Given the description of an element on the screen output the (x, y) to click on. 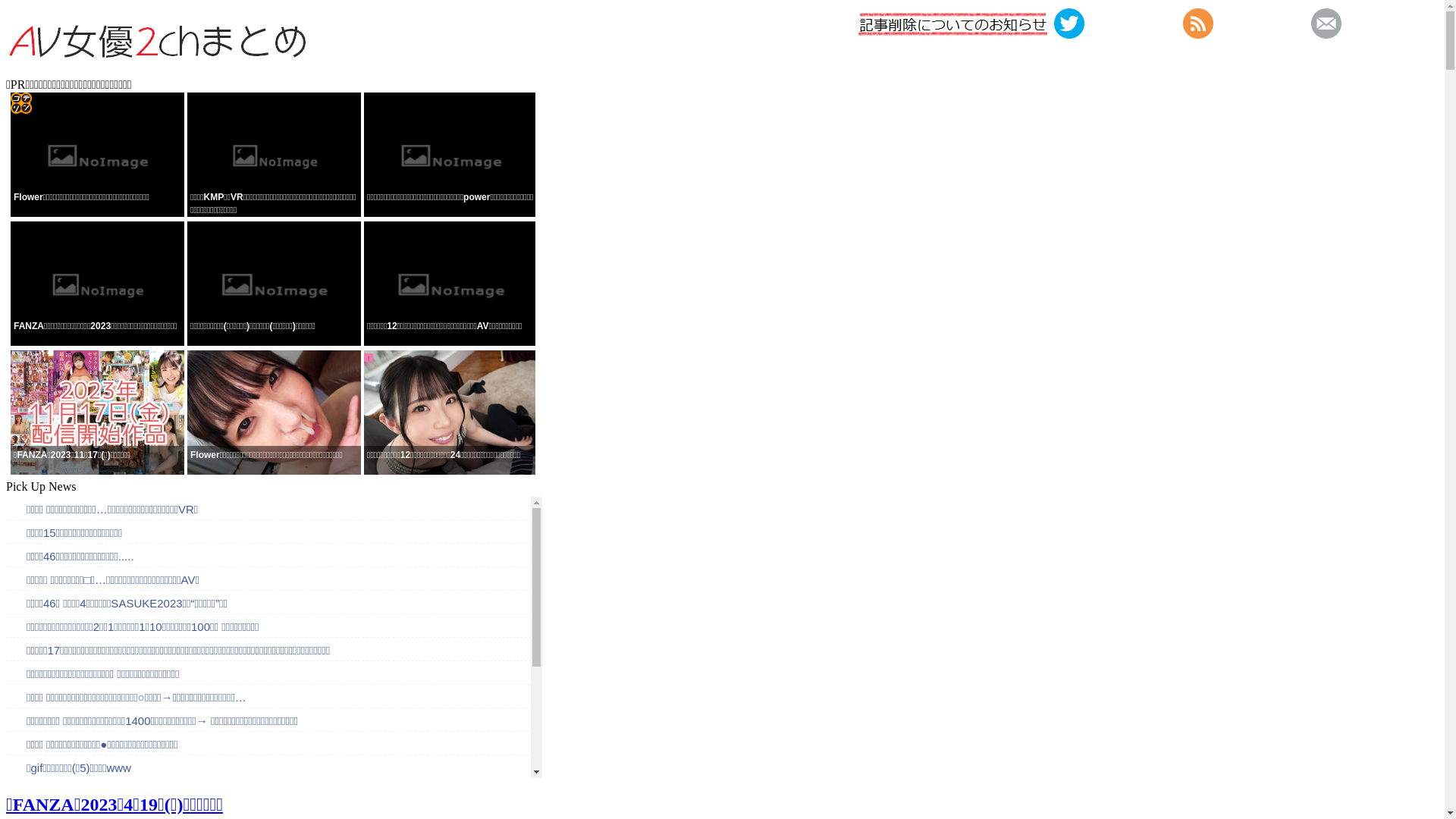
https://twitter.com/2chavcom Element type: hover (1069, 34)
http://form1.fc2.com/form/?id=916547 Element type: hover (1326, 34)
http://2chav.com/?xml Element type: hover (1198, 34)
